Given the description of an element on the screen output the (x, y) to click on. 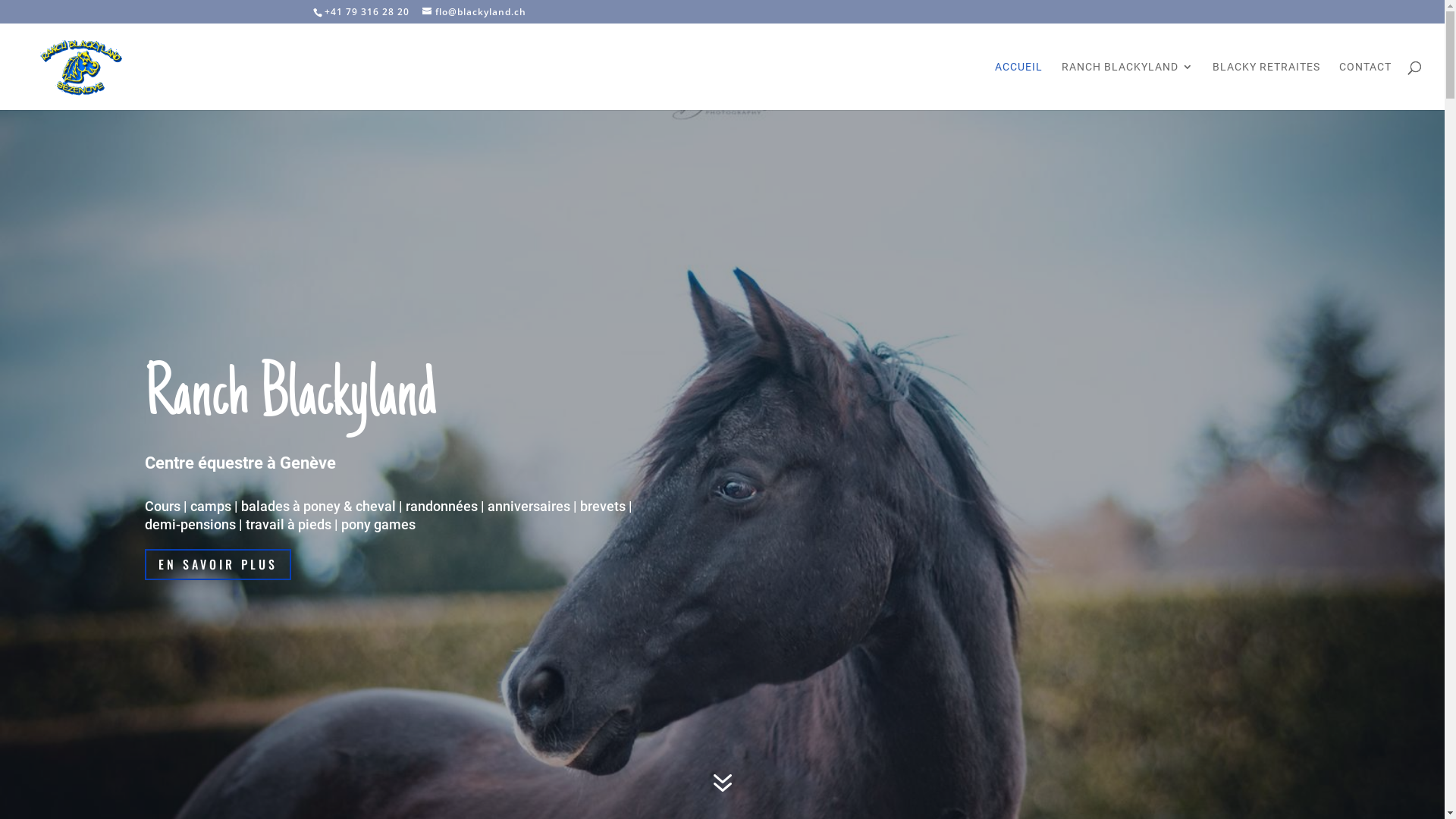
ACCUEIL Element type: text (1018, 85)
flo@blackyland.ch Element type: text (473, 11)
EN SAVOIR PLUS Element type: text (217, 564)
RANCH BLACKYLAND Element type: text (1127, 85)
7 Element type: text (721, 783)
CONTACT Element type: text (1365, 85)
BLACKY RETRAITES Element type: text (1266, 85)
